Given the description of an element on the screen output the (x, y) to click on. 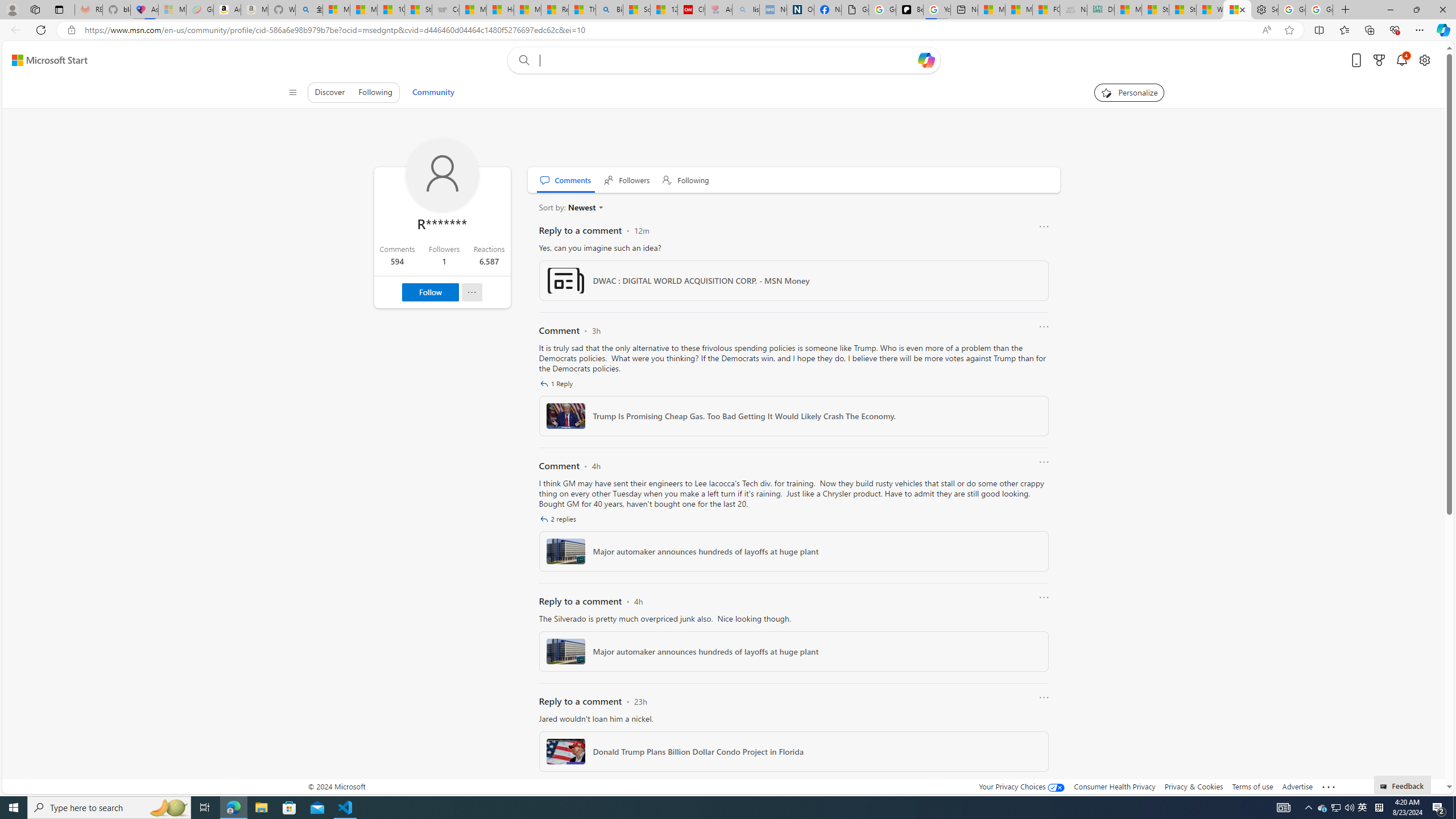
 Comments (565, 179)
Report profile (471, 292)
Content thumbnail (565, 751)
Your Privacy Choices (1021, 786)
R******* | Trusted Community Engagement and Contributions (1236, 9)
